Given the description of an element on the screen output the (x, y) to click on. 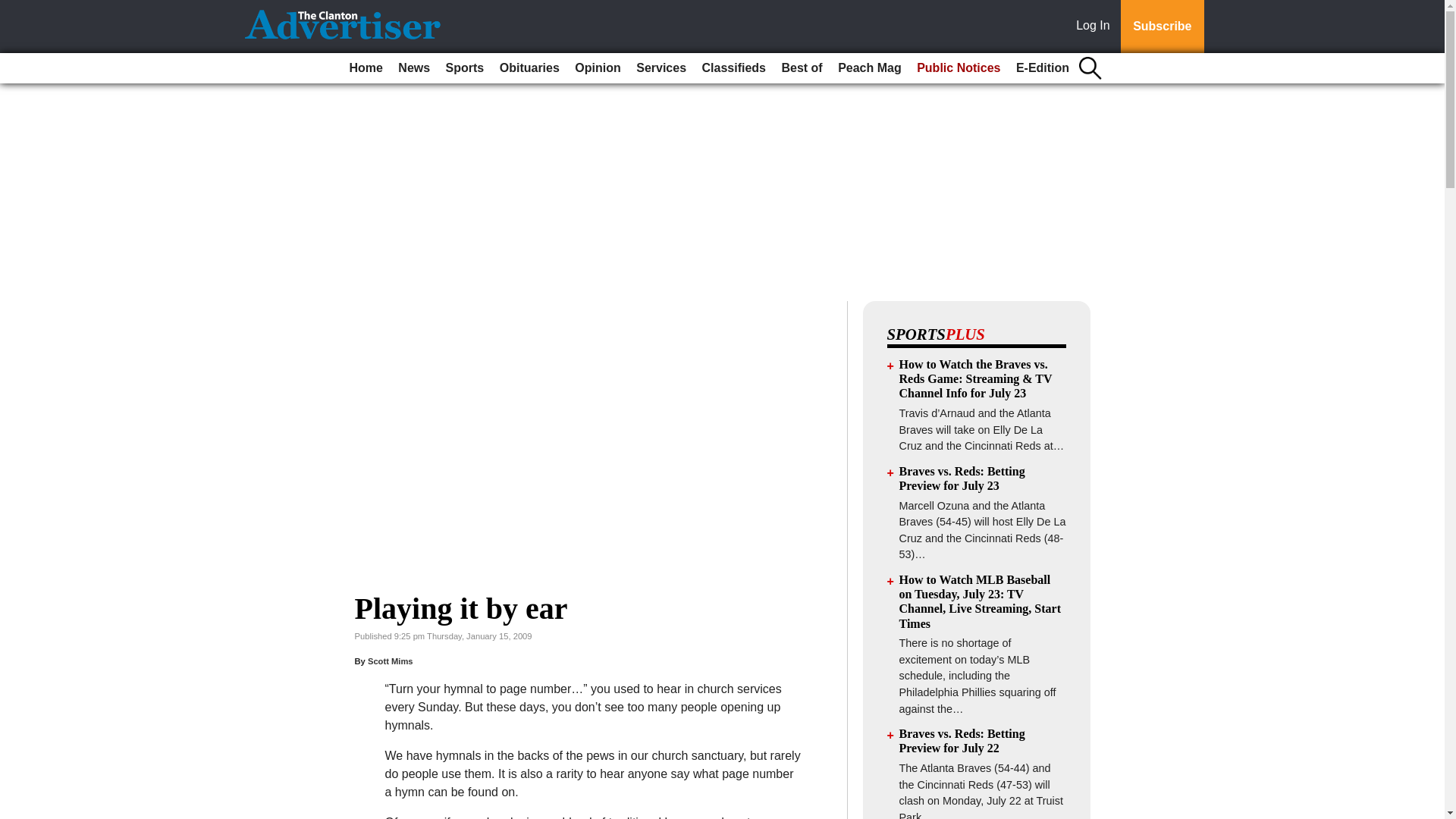
News (413, 68)
Log In (1095, 26)
Peach Mag (869, 68)
Braves vs. Reds: Betting Preview for July 23 (962, 478)
Go (13, 9)
Subscribe (1162, 26)
E-Edition (1042, 68)
Sports (464, 68)
Best of (801, 68)
Opinion (597, 68)
Classifieds (733, 68)
Services (661, 68)
Home (365, 68)
Obituaries (529, 68)
Scott Mims (390, 660)
